Given the description of an element on the screen output the (x, y) to click on. 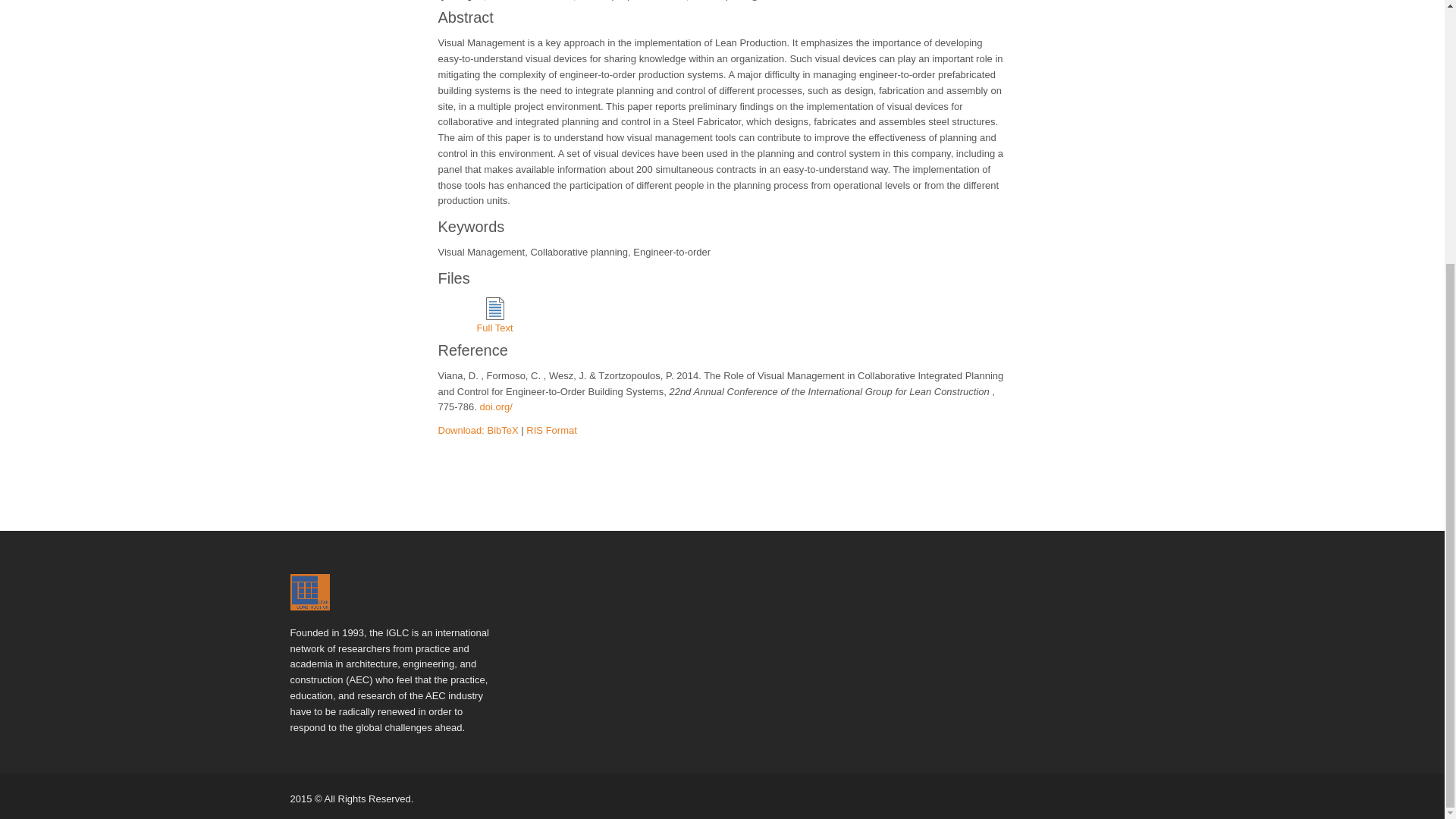
RIS Format (550, 430)
BibTeX (502, 430)
Full Text (494, 317)
Download: (462, 430)
